Given the description of an element on the screen output the (x, y) to click on. 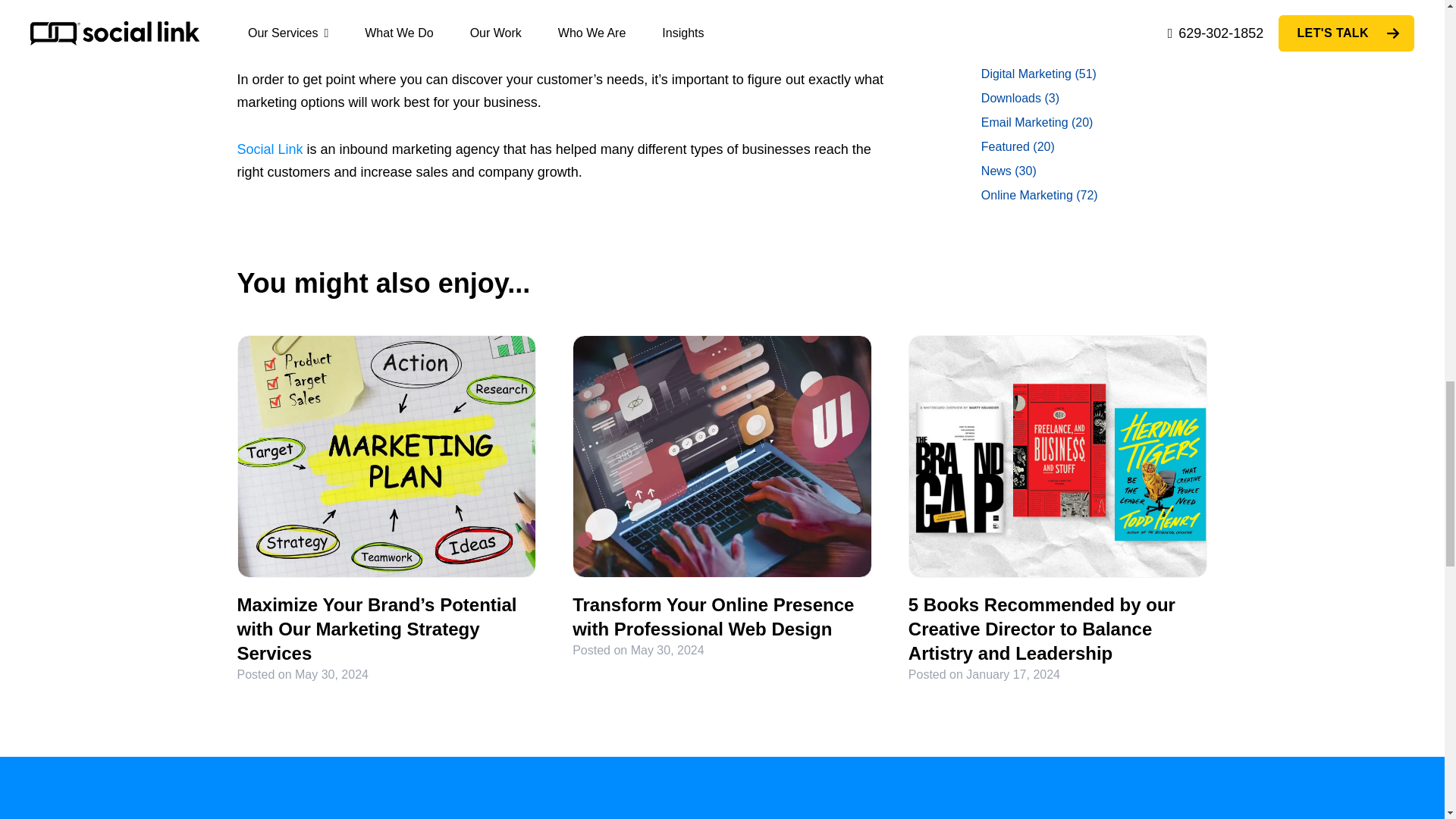
Social Link (268, 149)
